Given the description of an element on the screen output the (x, y) to click on. 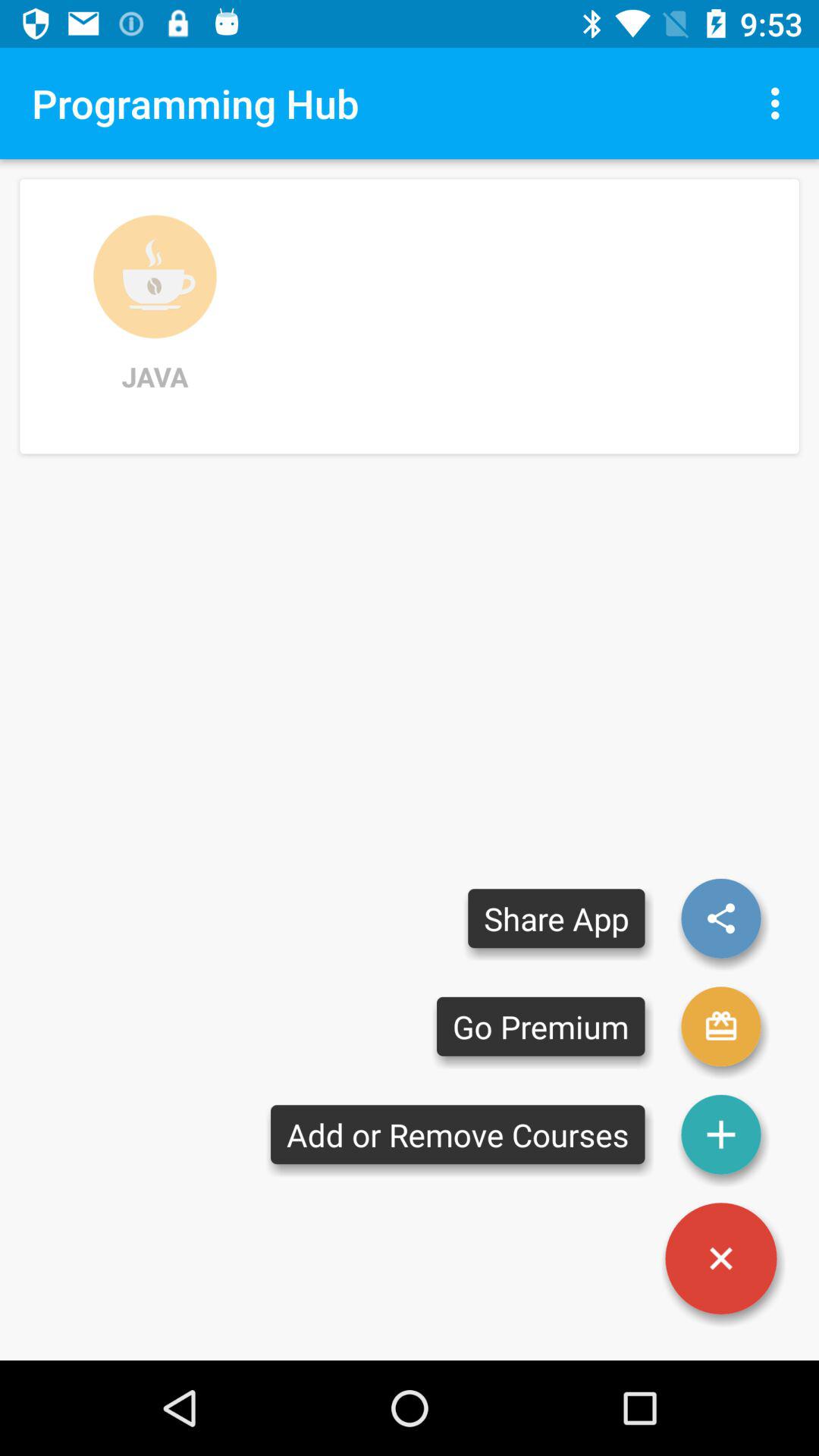
turn off the item above the go premium icon (556, 918)
